Given the description of an element on the screen output the (x, y) to click on. 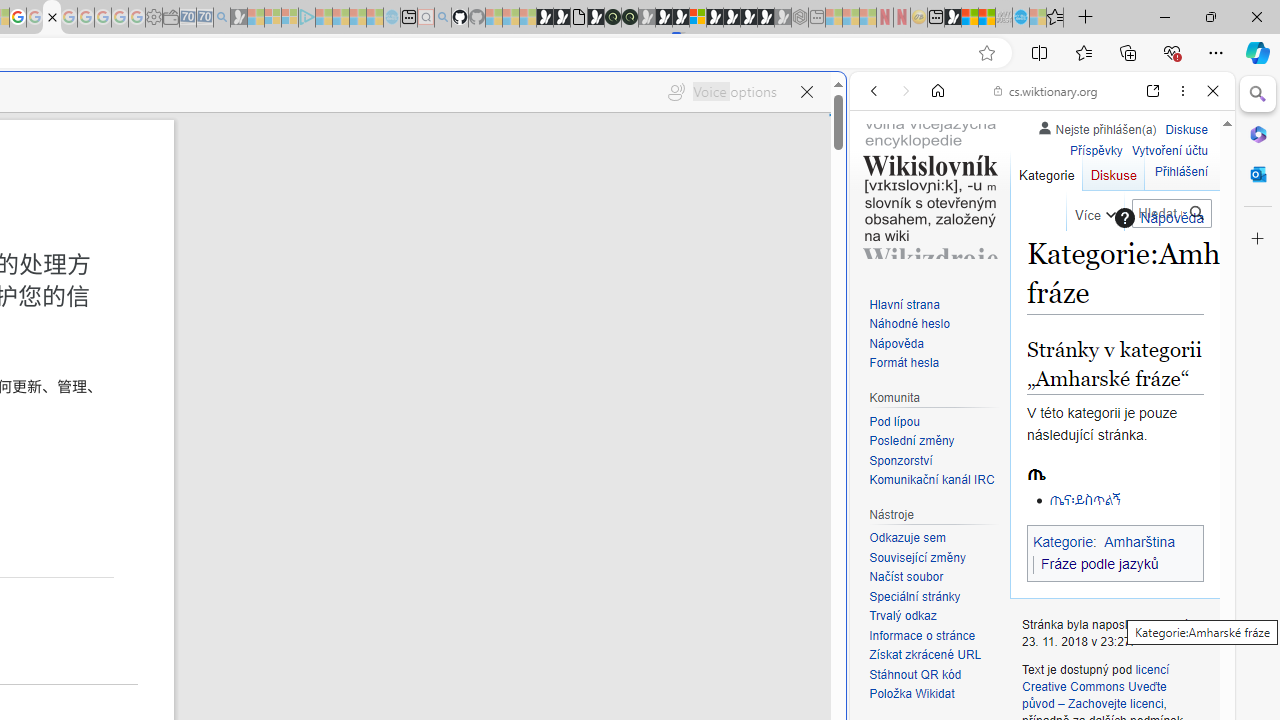
Play Cave FRVR in your browser | Games from Microsoft Start (663, 17)
Cheap Car Rentals - Save70.com - Sleeping (204, 17)
Search Filter, WEB (882, 228)
Tabs you've opened (276, 265)
Wallet - Sleeping (170, 17)
Microsoft Start Gaming - Sleeping (238, 17)
Open link in new tab (1153, 91)
Diskuse (1113, 170)
